Given the description of an element on the screen output the (x, y) to click on. 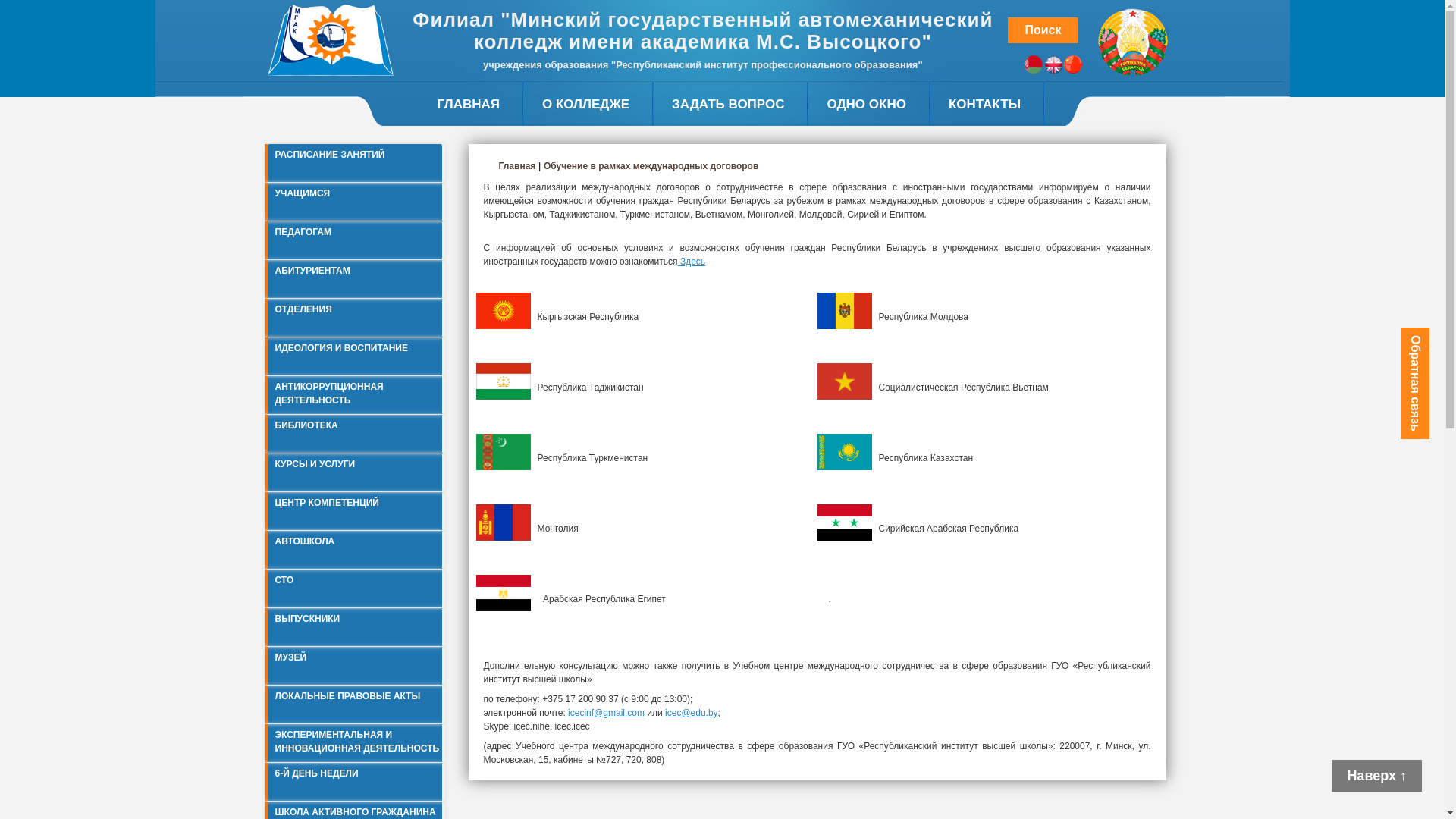
icecinf@gmail.com Element type: text (605, 712)
icec@edu.by Element type: text (691, 712)
